Given the description of an element on the screen output the (x, y) to click on. 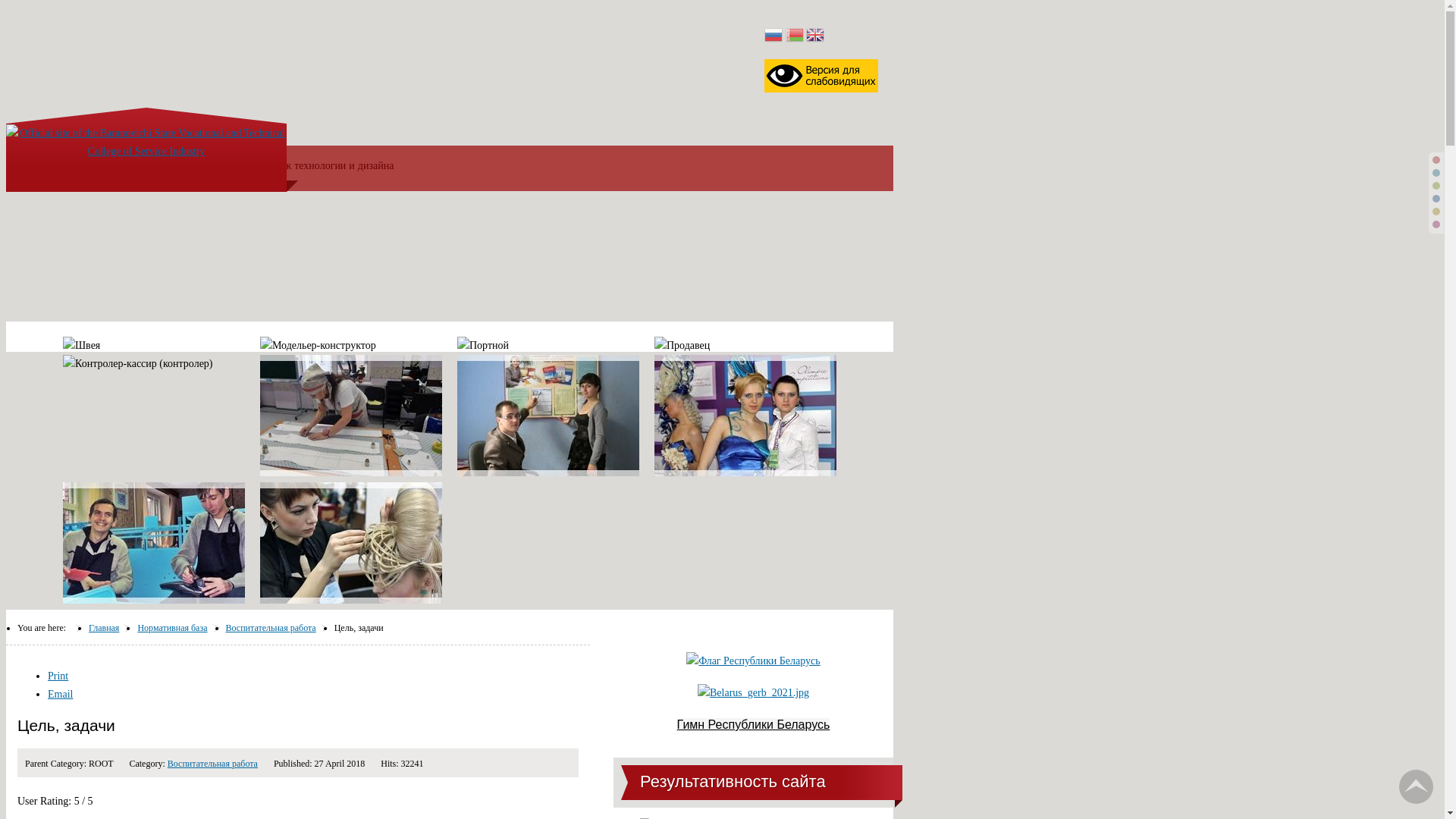
Belarusian Element type: hover (794, 36)
Russian Element type: hover (773, 36)
Email Element type: text (59, 693)
Go Top Element type: text (1416, 786)
Print Element type: text (57, 675)
English Element type: hover (815, 36)
